Given the description of an element on the screen output the (x, y) to click on. 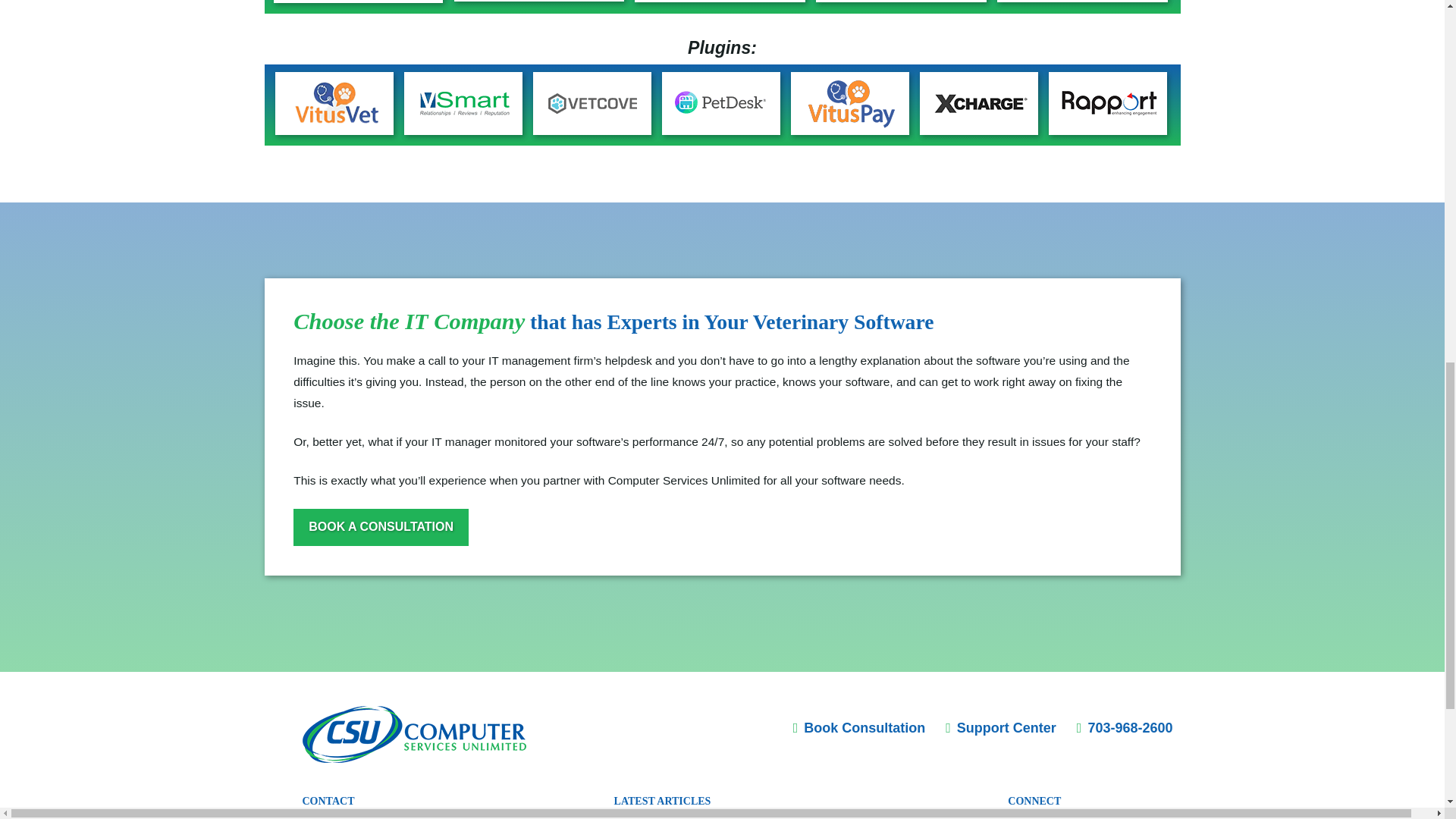
BOOK A CONSULTATION (381, 527)
Book Consultation (859, 727)
703-968-2600 (1125, 727)
Scroll back to top (1406, 708)
Support Center (1000, 727)
